Given the description of an element on the screen output the (x, y) to click on. 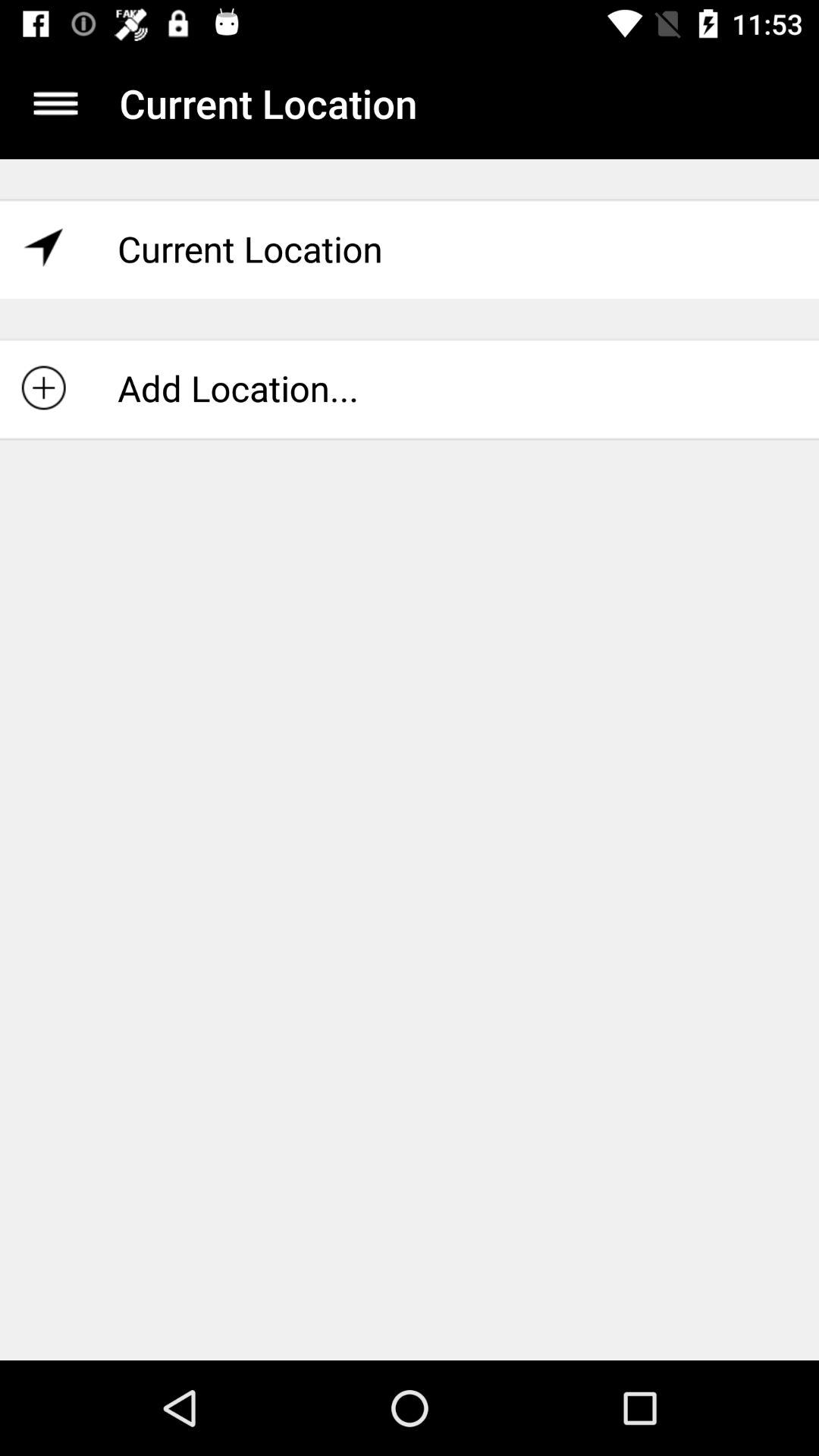
jump to the add location... item (409, 387)
